Given the description of an element on the screen output the (x, y) to click on. 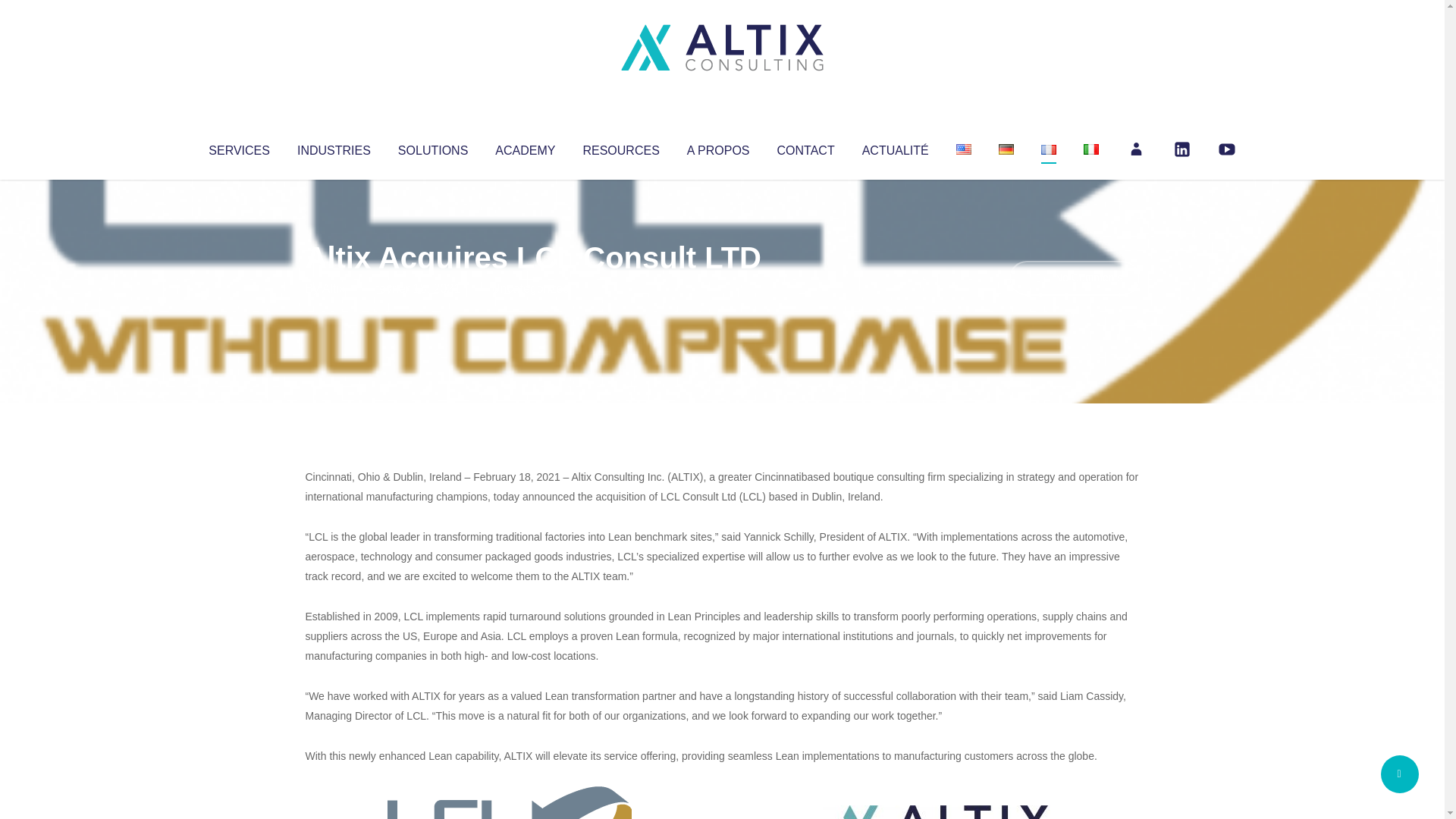
SERVICES (238, 146)
Uncategorized (530, 287)
A PROPOS (718, 146)
Articles par Altix (333, 287)
SOLUTIONS (432, 146)
Altix (333, 287)
RESOURCES (620, 146)
No Comments (1073, 278)
ACADEMY (524, 146)
INDUSTRIES (334, 146)
